Given the description of an element on the screen output the (x, y) to click on. 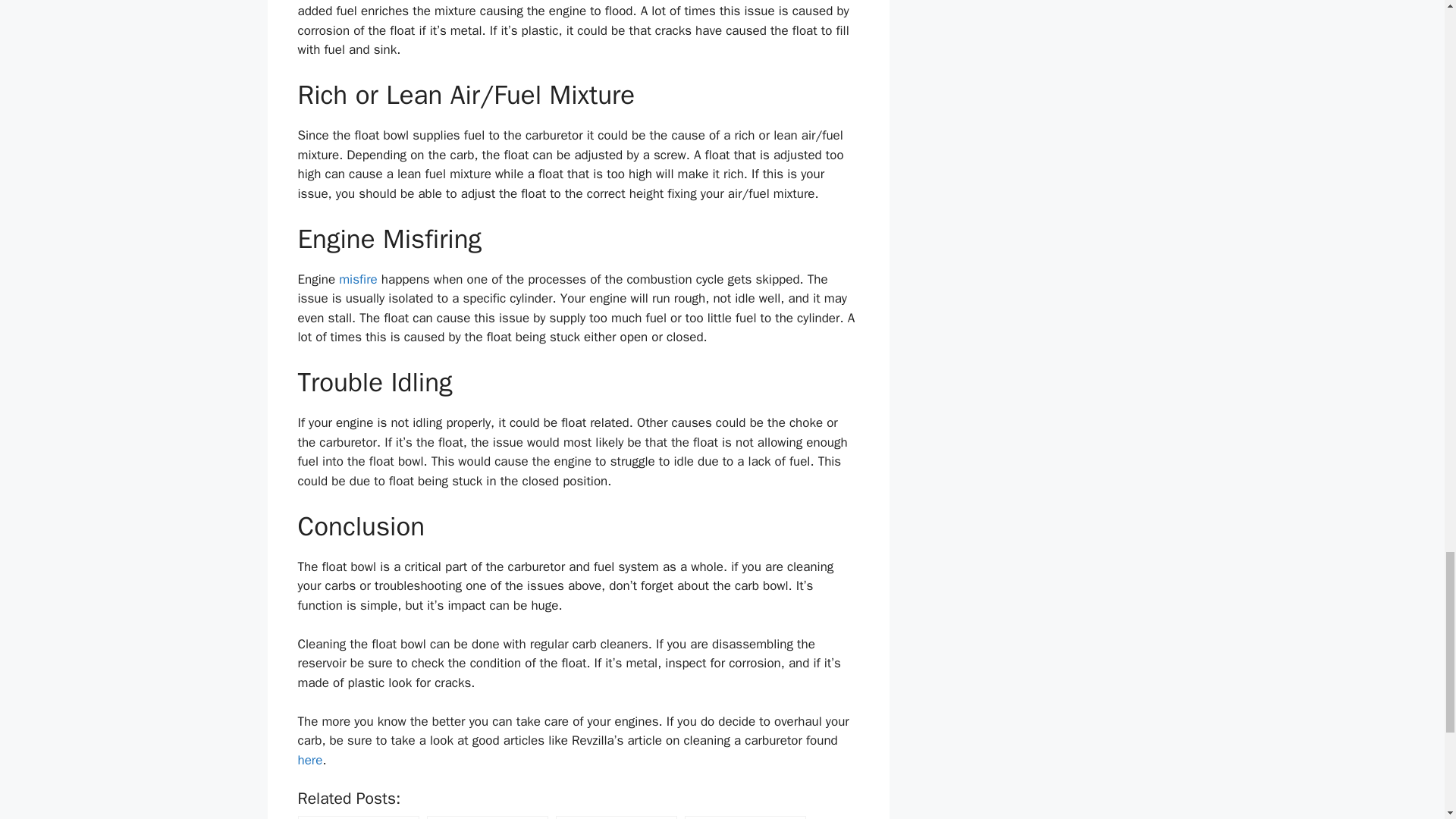
Top 3 Motorcycle Phone Mounts (616, 817)
here (309, 760)
Fat Bob Cafe Racer and a Harley Supermoto (745, 817)
Fat Bob Cafe Racer and a Harley Supermoto (745, 817)
A Beginner Guide to The Motorcycle Choke (487, 817)
misfire (358, 279)
A Beginner Guide to The Motorcycle Choke (487, 817)
Top 3 Motorcycle Phone Mounts (616, 817)
